Given the description of an element on the screen output the (x, y) to click on. 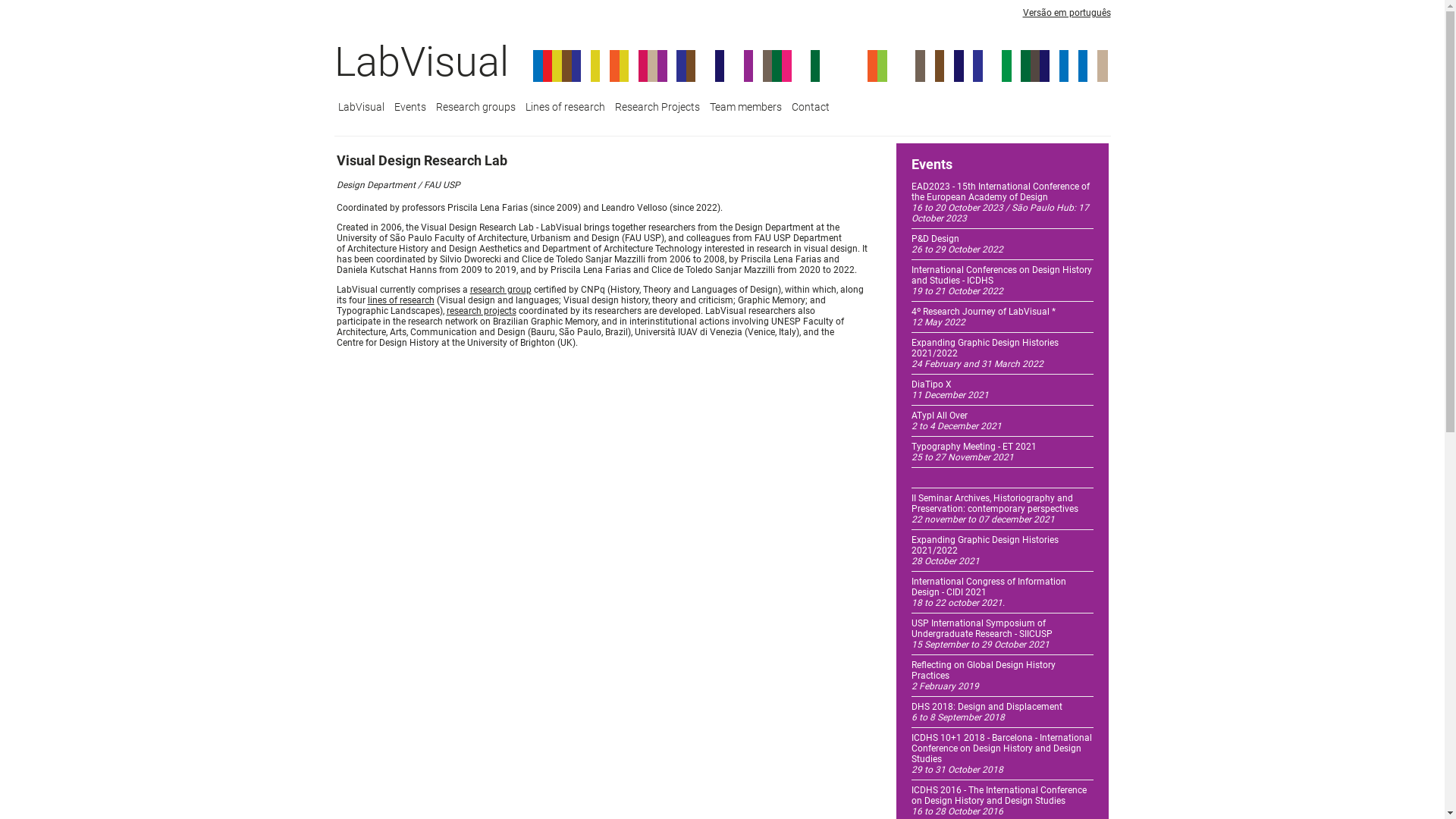
LabVisual Element type: text (420, 61)
ATypI All Over
2 to 4 December 2021 Element type: text (956, 420)
Events Element type: text (409, 107)
DHS 2018: Design and Displacement
6 to 8 September 2018 Element type: text (986, 711)
LabVisual Element type: text (360, 107)
Research groups Element type: text (475, 107)
Team members Element type: text (744, 107)
Lines of research Element type: text (564, 107)
DiaTipo X
11 December 2021 Element type: text (949, 389)
lines of research Element type: text (400, 299)
research projects Element type: text (480, 310)
Expanding Graphic Design Histories 2021/2022
28 October 2021 Element type: text (984, 550)
Events Element type: text (1002, 173)
P&D Design
26 to 29 October 2022 Element type: text (957, 243)
Contact Element type: text (809, 107)
Typography Meeting - ET 2021
25 to 27 November 2021 Element type: text (973, 451)
research group Element type: text (500, 289)
Research Projects Element type: text (657, 107)
